Given the description of an element on the screen output the (x, y) to click on. 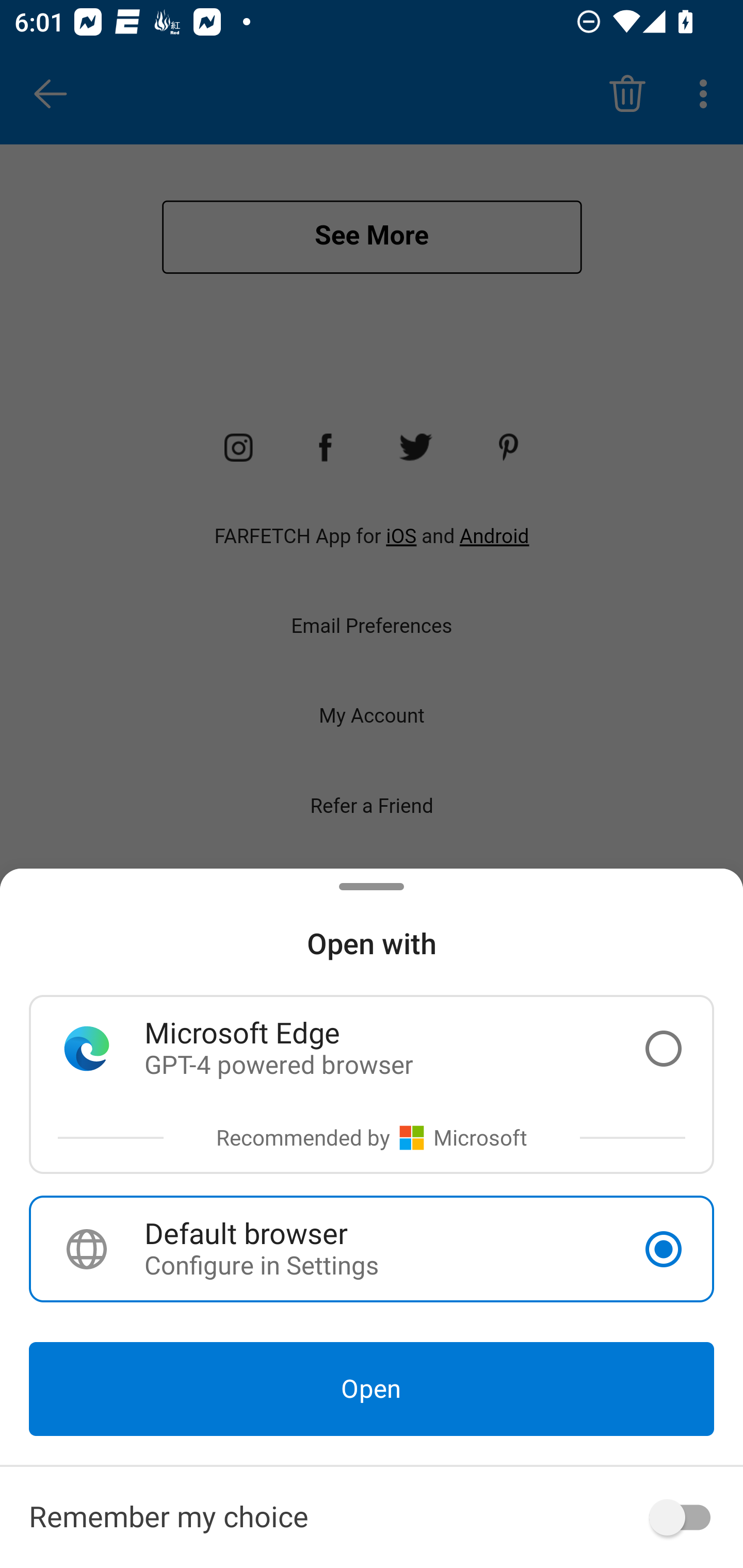
Open (371, 1389)
Remember my choice (371, 1517)
